Given the description of an element on the screen output the (x, y) to click on. 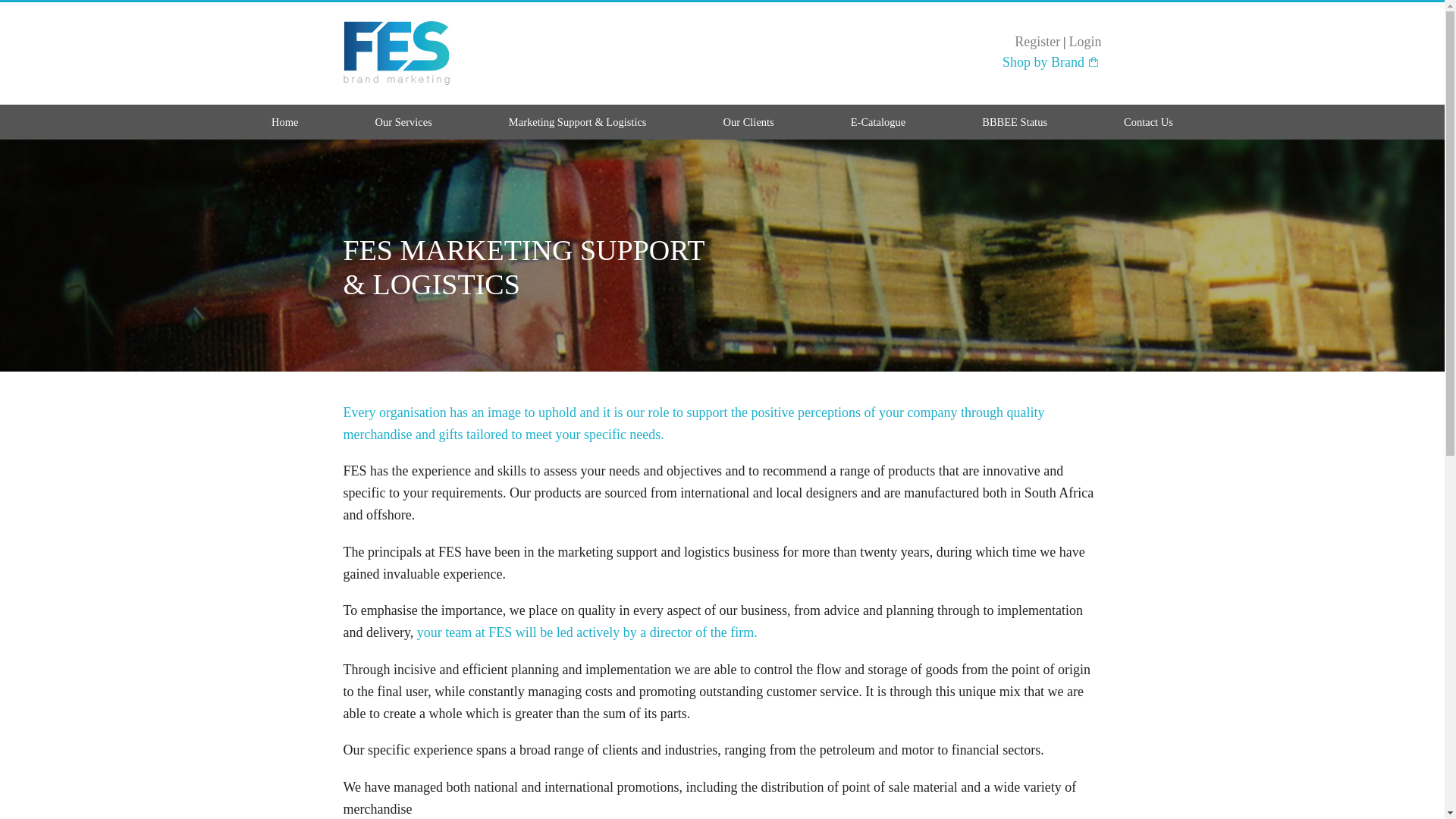
Shop by Brand (1050, 61)
Our Clients (747, 126)
Our Services (403, 126)
E-Catalogue (877, 126)
Contact Us (1148, 126)
Register (1036, 41)
BBBEE Status (1013, 126)
Login (1085, 41)
Home (284, 126)
